Given the description of an element on the screen output the (x, y) to click on. 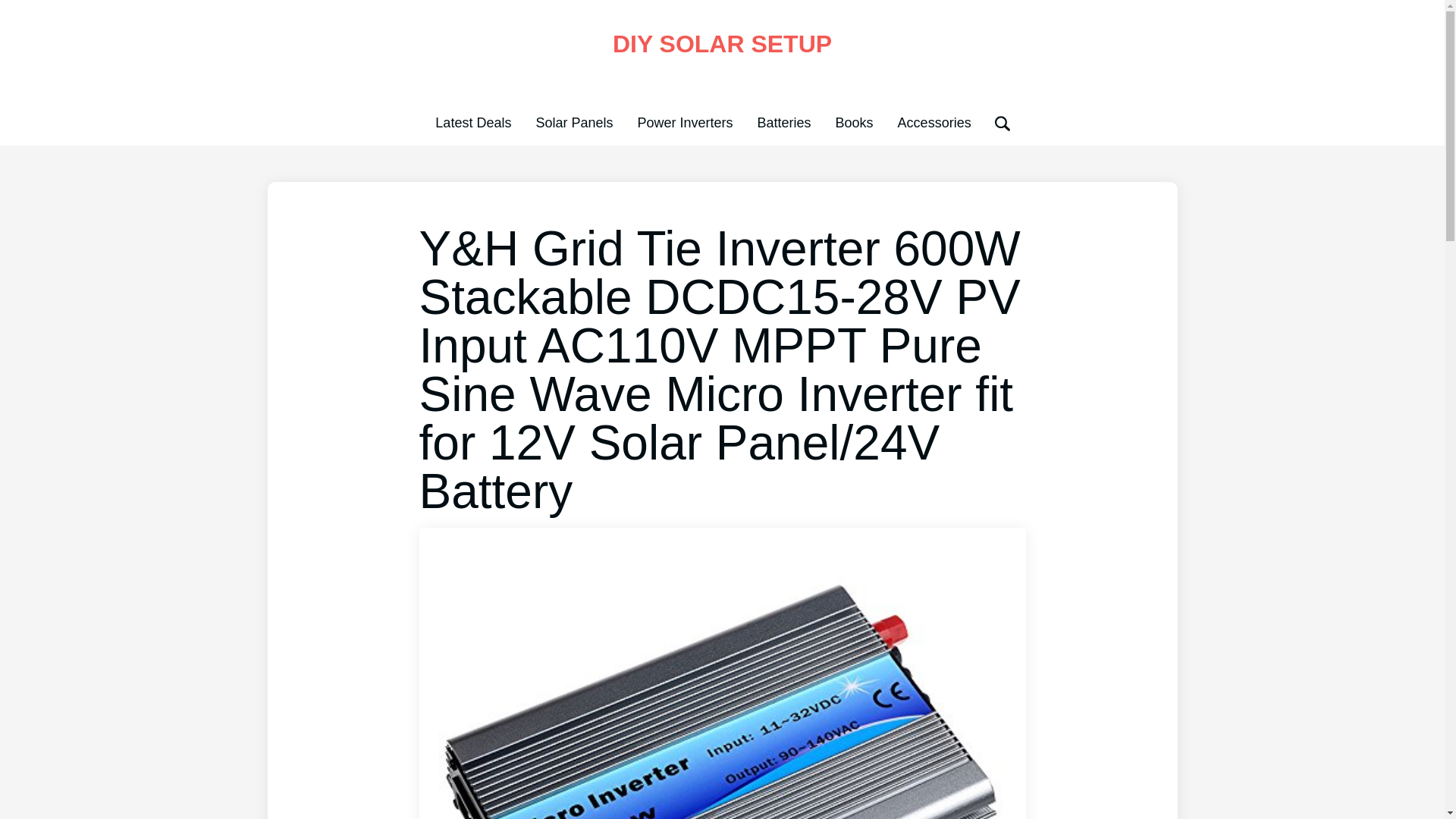
Latest Deals (473, 122)
Solar Panels (573, 122)
Power Inverters (684, 122)
DIY SOLAR SETUP (721, 43)
Accessories (934, 122)
Batteries (783, 122)
Books (854, 122)
